Given the description of an element on the screen output the (x, y) to click on. 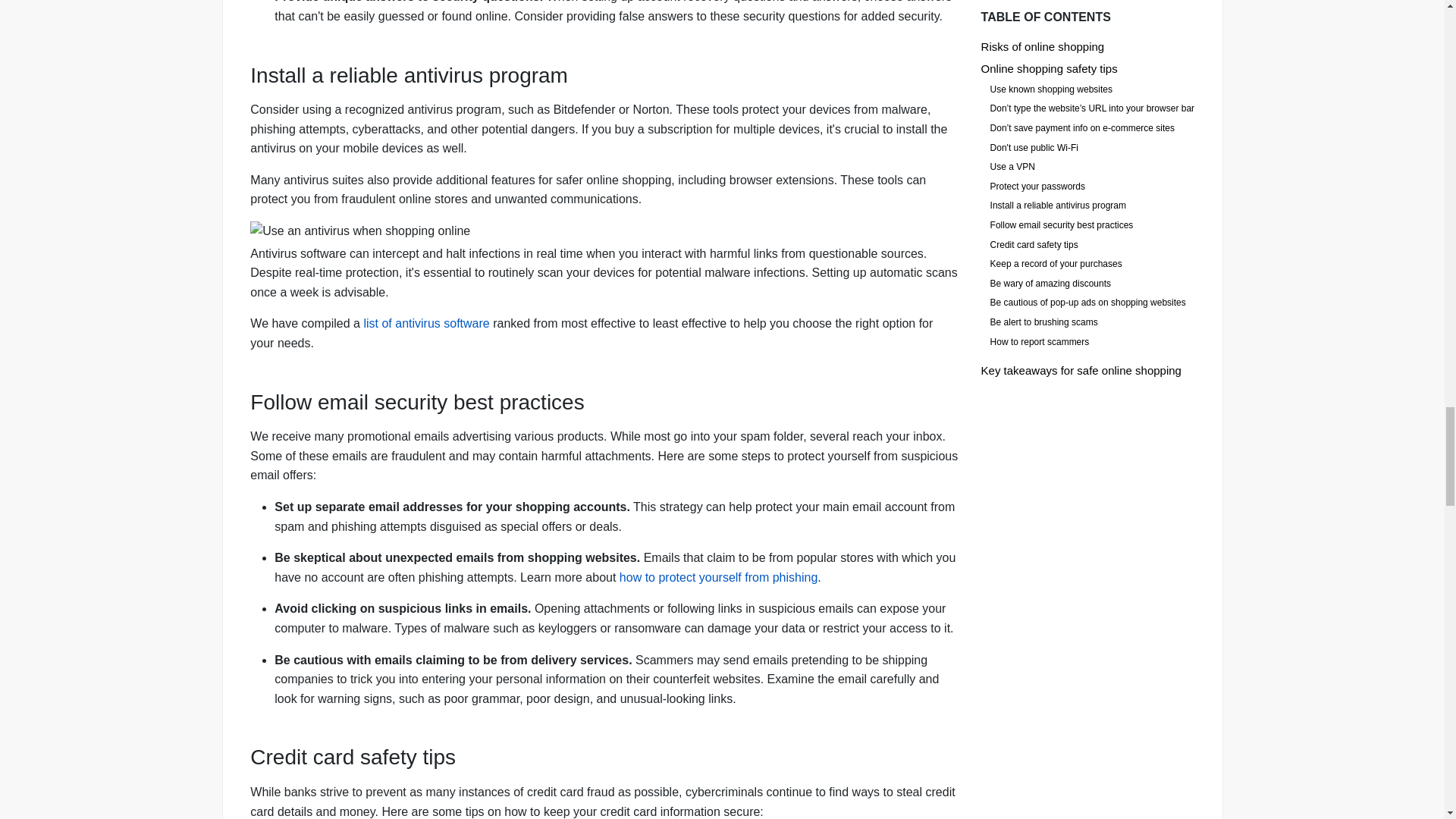
how to protect yourself from phishing (718, 576)
list of antivirus software (425, 323)
Antivirus for shopping (604, 230)
